Given the description of an element on the screen output the (x, y) to click on. 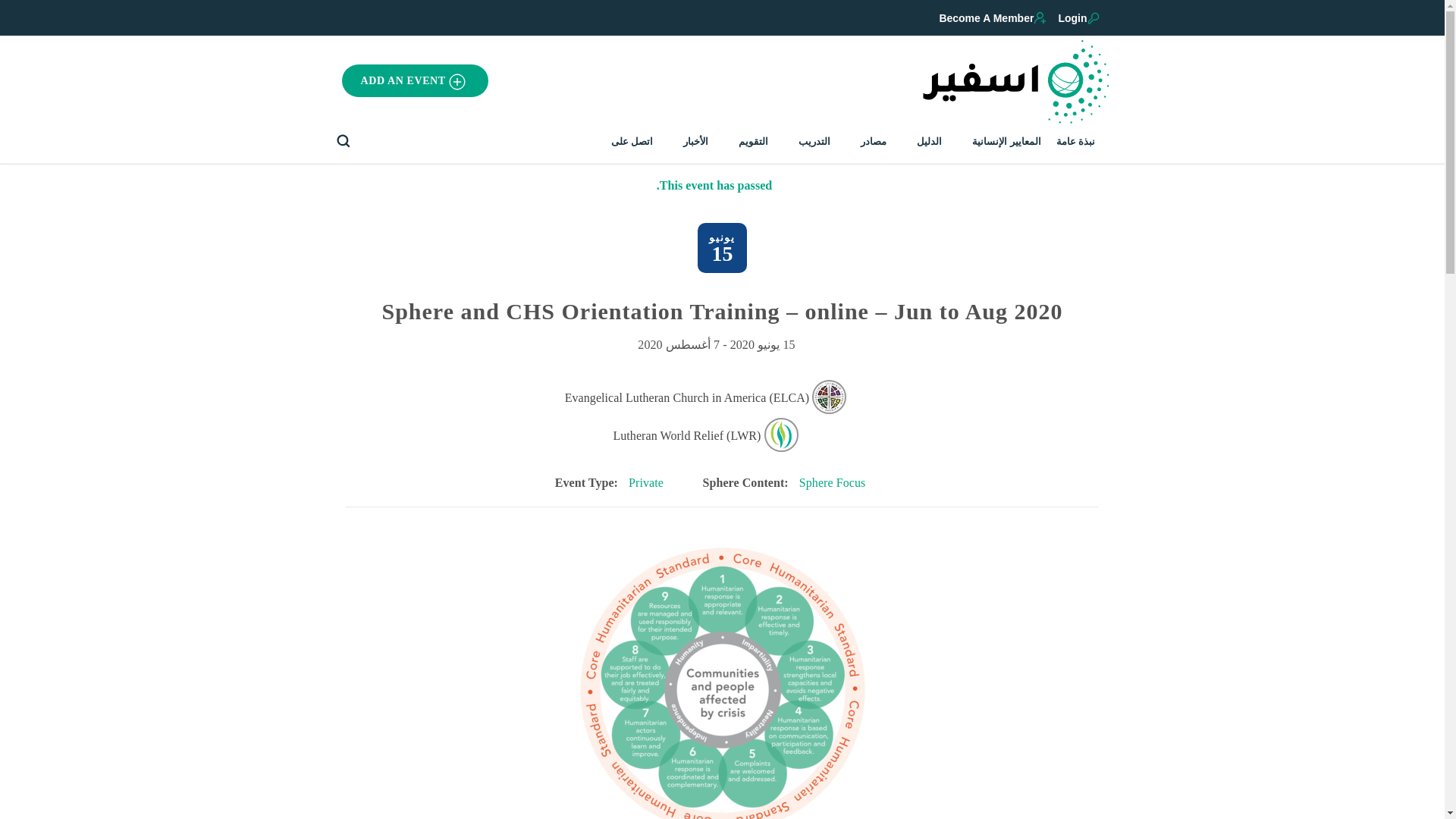
ADD AN EVENT (414, 80)
Become A Member (994, 17)
Login (1080, 18)
